Given the description of an element on the screen output the (x, y) to click on. 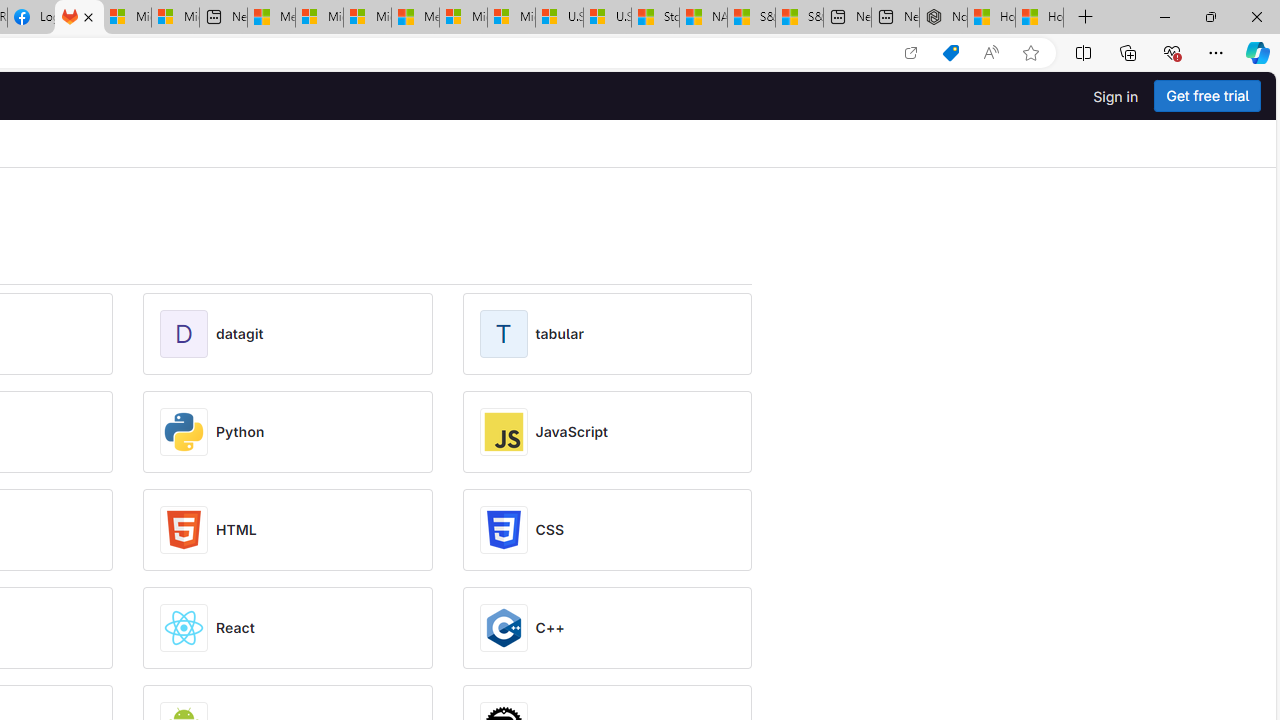
datagit (239, 333)
C++ (549, 628)
HTML (236, 529)
Shopping in Microsoft Edge (950, 53)
Sign in (1115, 95)
Python (240, 431)
